Given the description of an element on the screen output the (x, y) to click on. 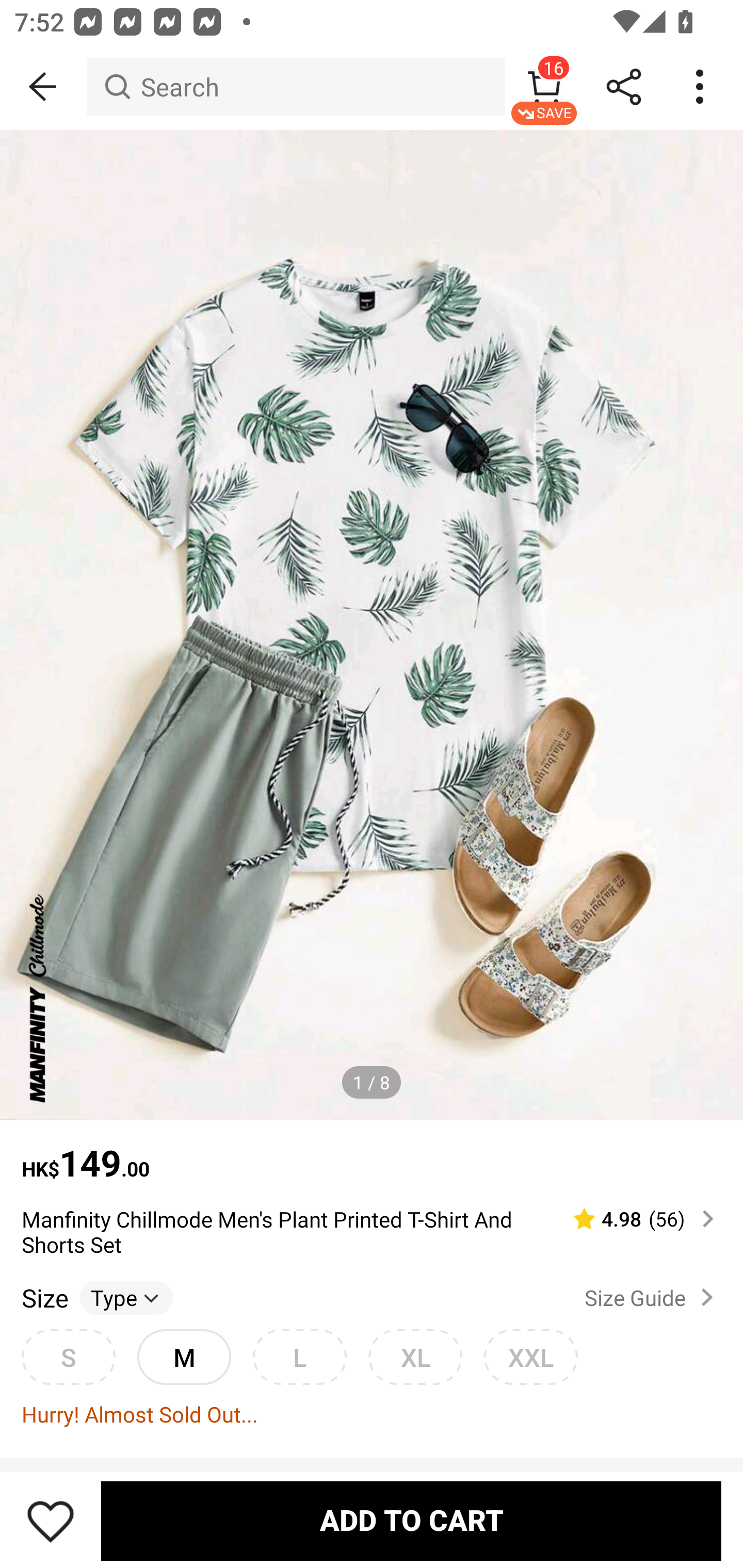
BACK (43, 86)
16 SAVE (543, 87)
Search (295, 87)
1 / 8 (371, 1082)
HK$149.00 (371, 1152)
4.98 (56) (635, 1219)
Size (44, 1297)
Type (126, 1297)
Size Guide (652, 1297)
S (68, 1356)
M Munselected option (184, 1356)
L (299, 1356)
XL (415, 1356)
XXL (530, 1356)
Hurry! Almost Sold Out... (371, 1413)
ADD TO CART (411, 1520)
Save (50, 1520)
